Given the description of an element on the screen output the (x, y) to click on. 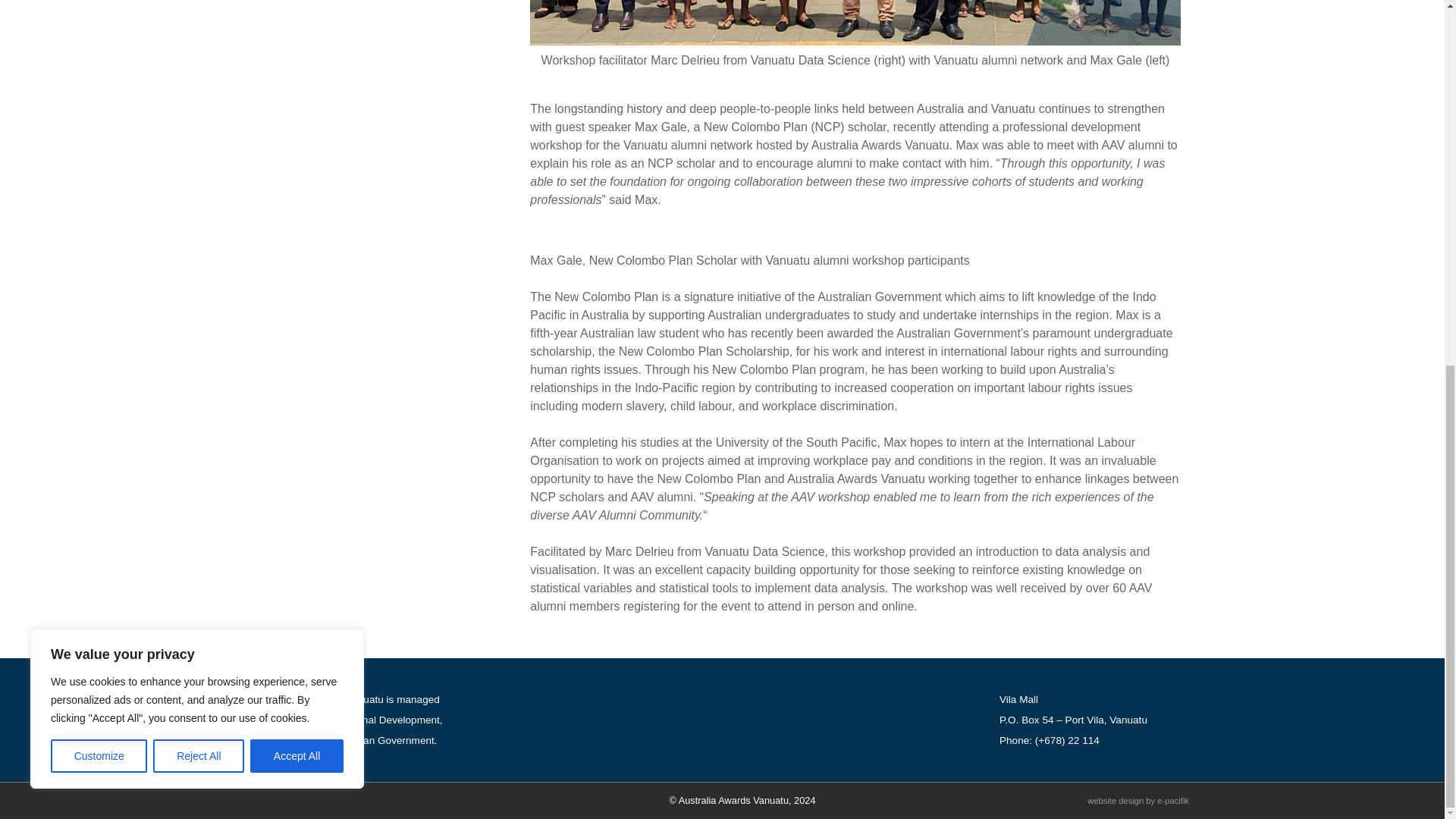
Reject All (198, 99)
Accept All (296, 99)
Customize (98, 99)
